Given the description of an element on the screen output the (x, y) to click on. 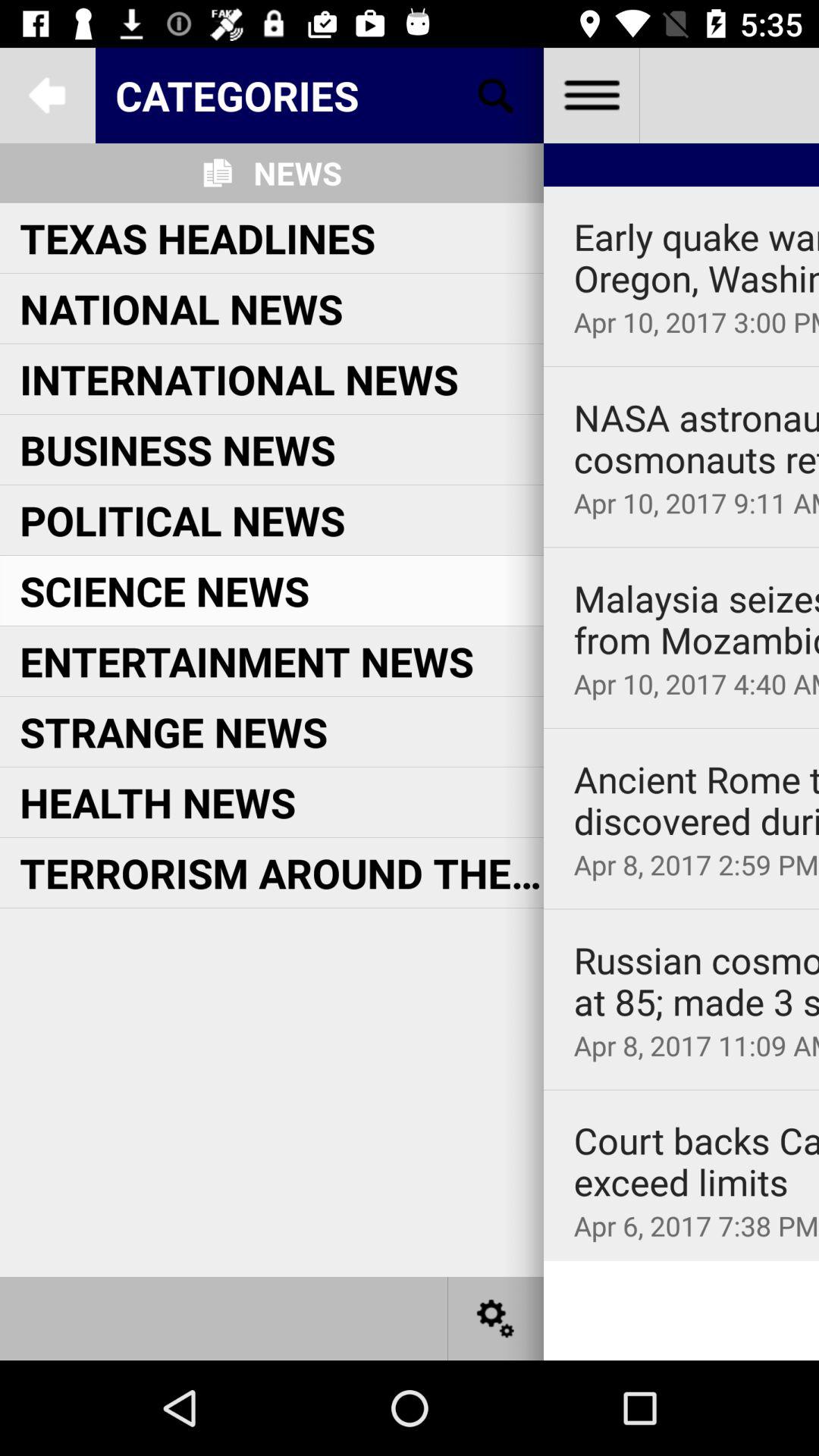
turn off item next to strange news (681, 728)
